Given the description of an element on the screen output the (x, y) to click on. 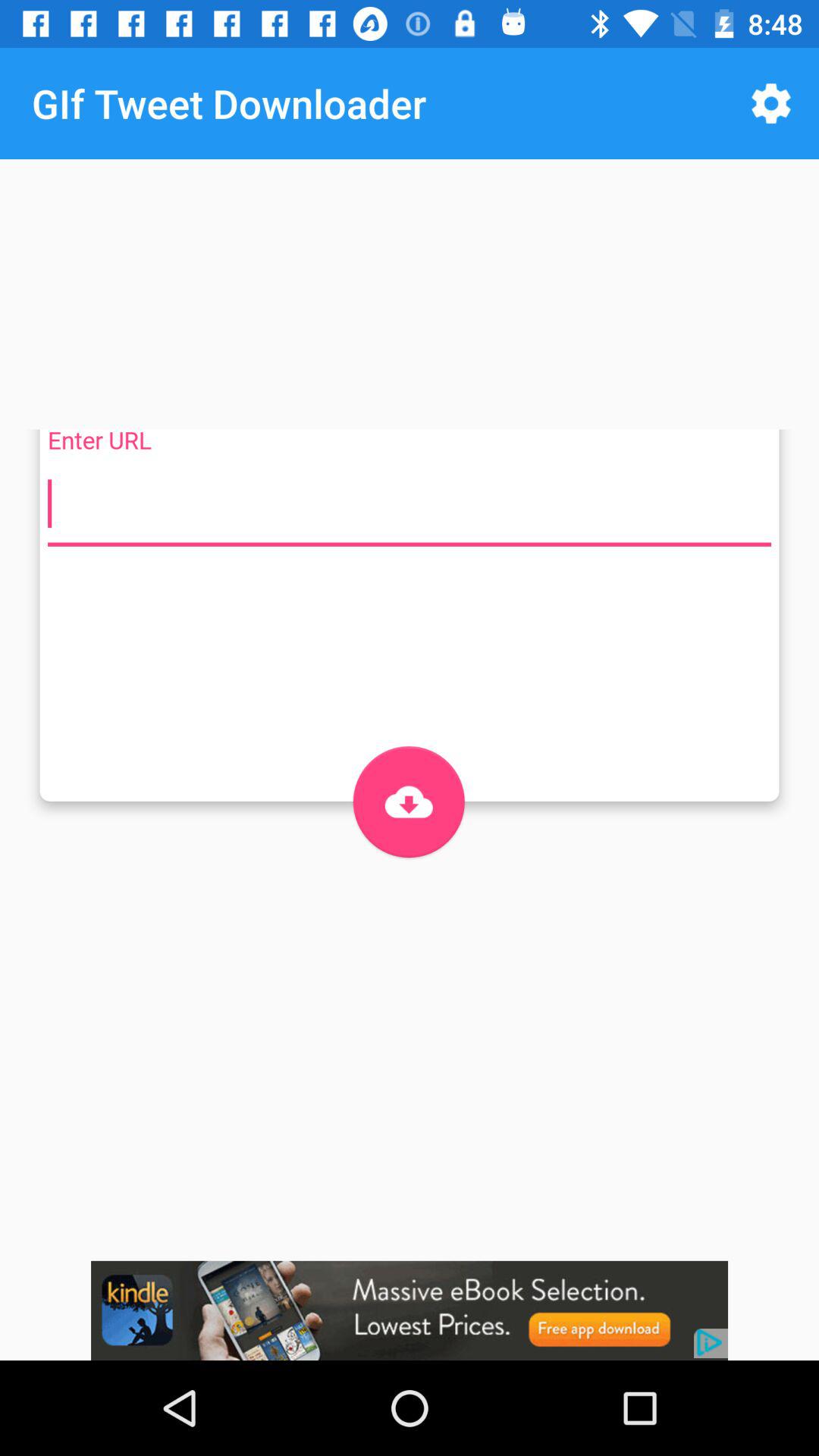
download option (408, 801)
